Given the description of an element on the screen output the (x, y) to click on. 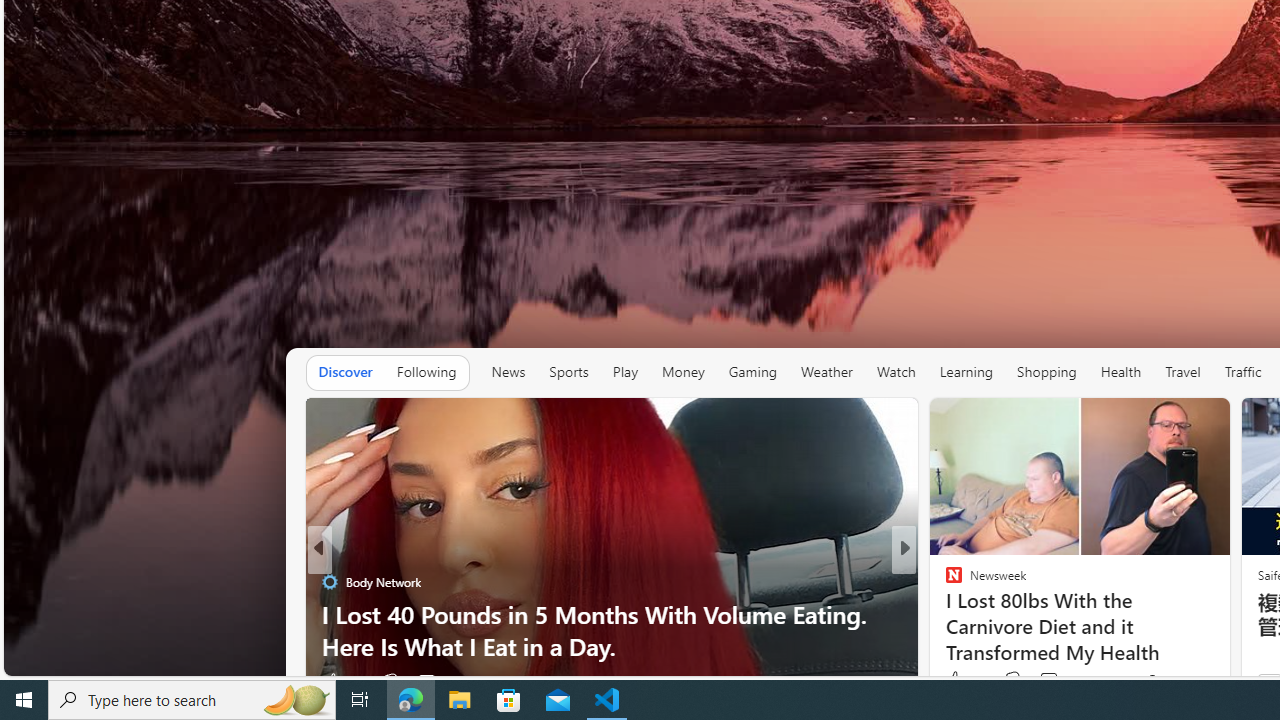
View comments 11 Comment (1051, 681)
Shopping (1047, 371)
186 Like (342, 681)
Shopping (1046, 372)
INSIDER (944, 581)
21 Like (956, 681)
View comments 73 Comment (1048, 679)
